Given the description of an element on the screen output the (x, y) to click on. 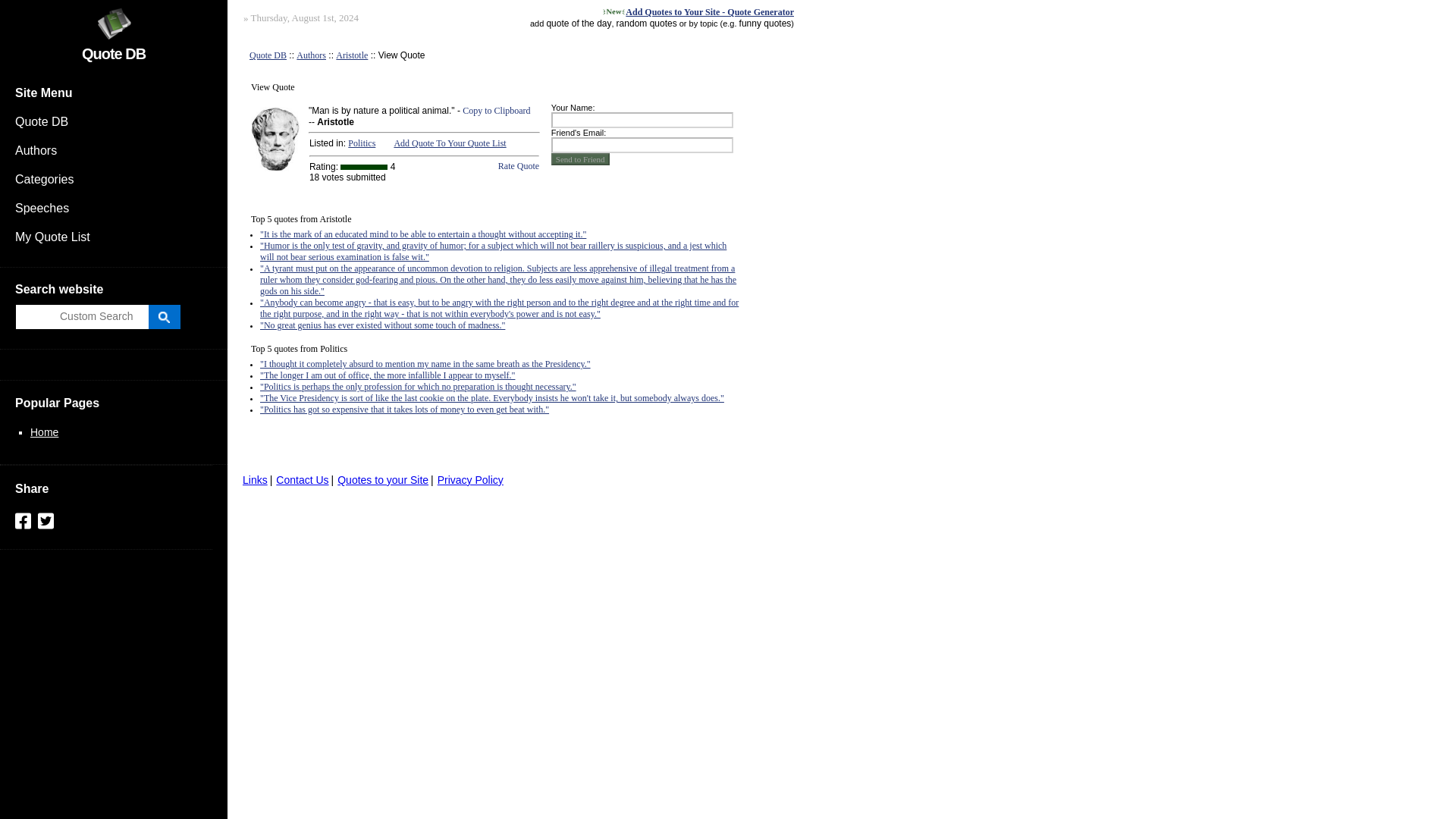
Quote DB (267, 54)
Quote DB (113, 53)
Authors (113, 150)
search (85, 316)
Send to Friend (580, 159)
